Given the description of an element on the screen output the (x, y) to click on. 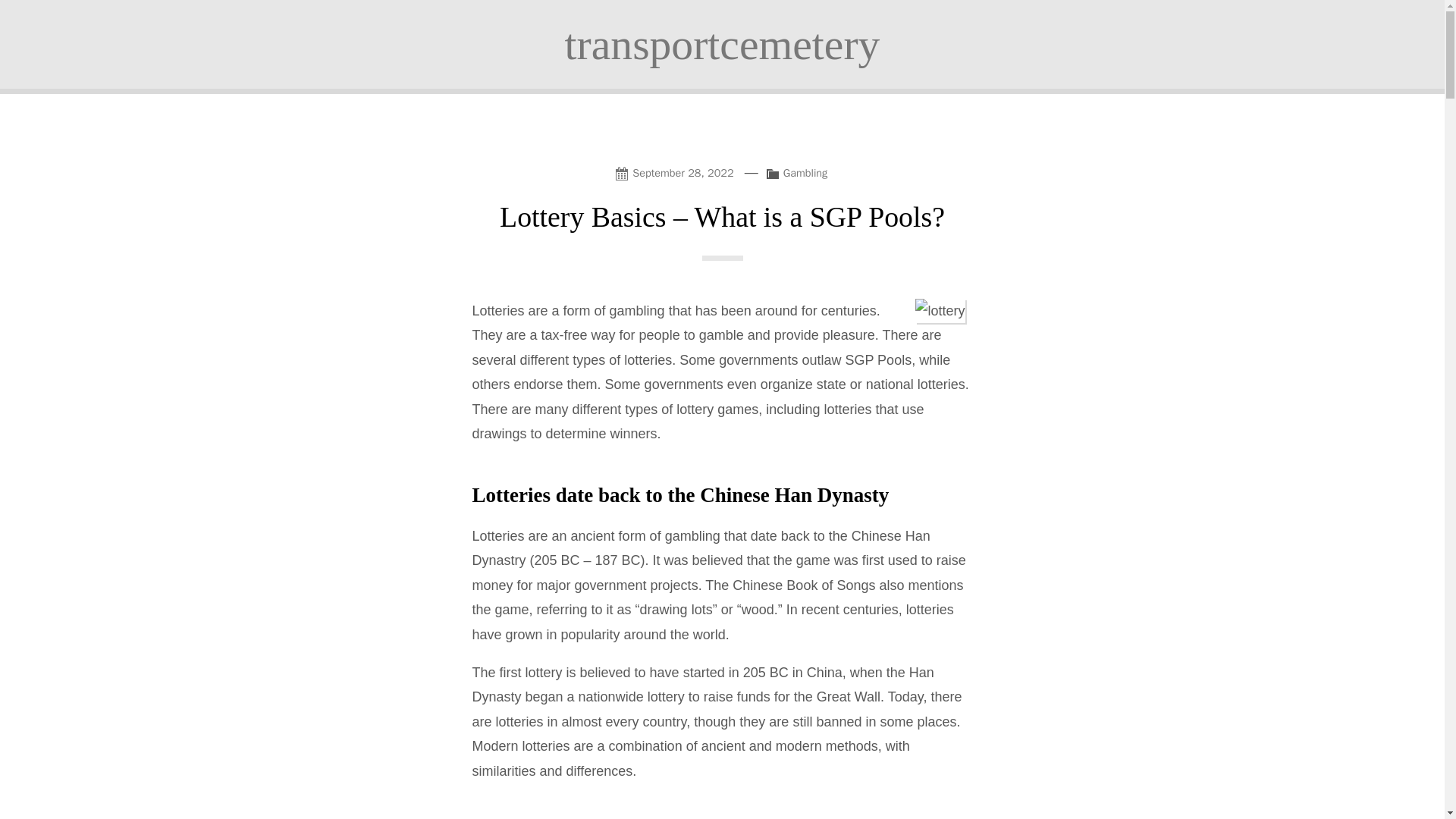
transportcemetery (722, 43)
Gambling (805, 172)
September 28, 2022 (676, 171)
